Given the description of an element on the screen output the (x, y) to click on. 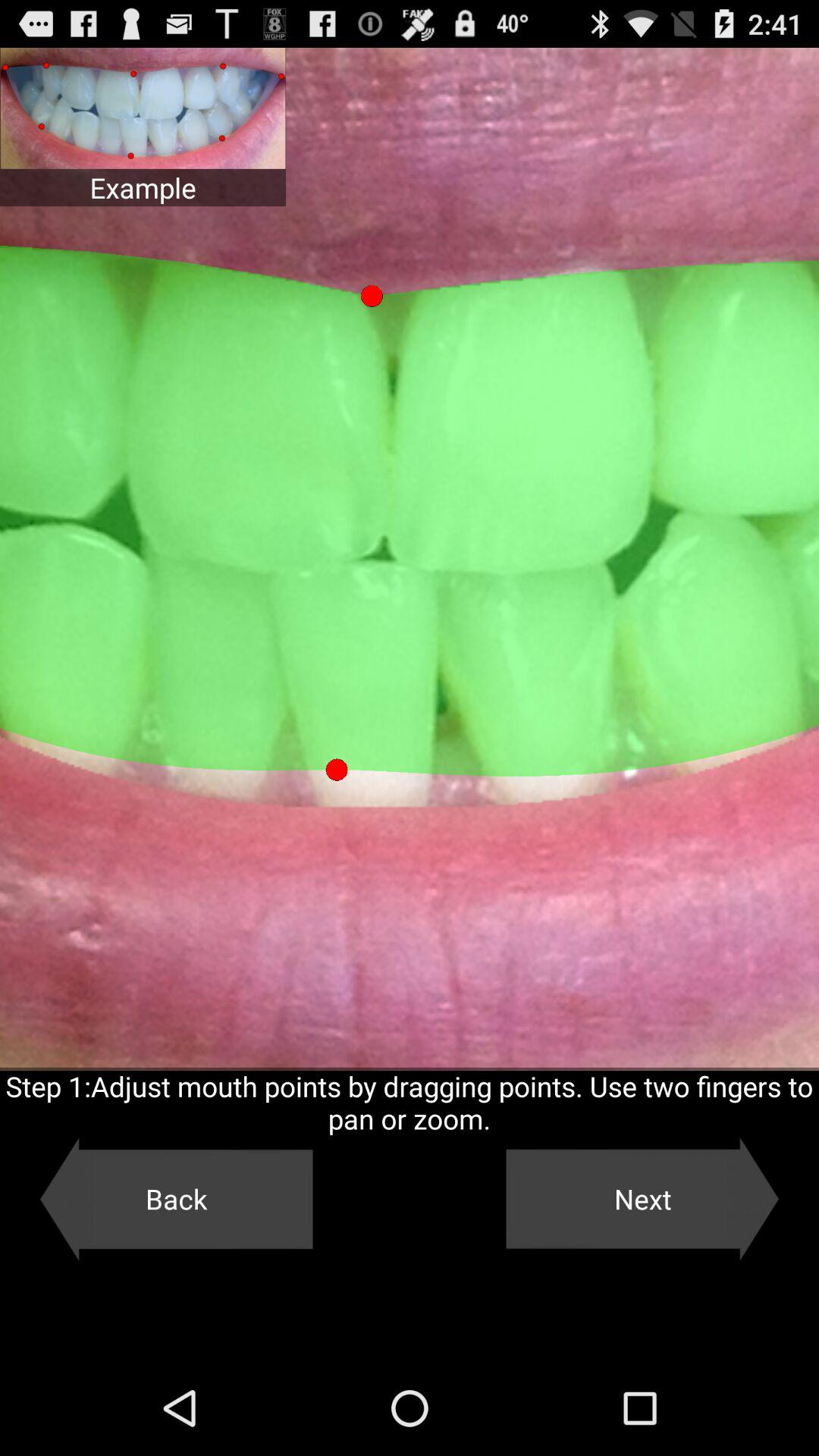
turn off item below step 1 adjust item (642, 1198)
